Given the description of an element on the screen output the (x, y) to click on. 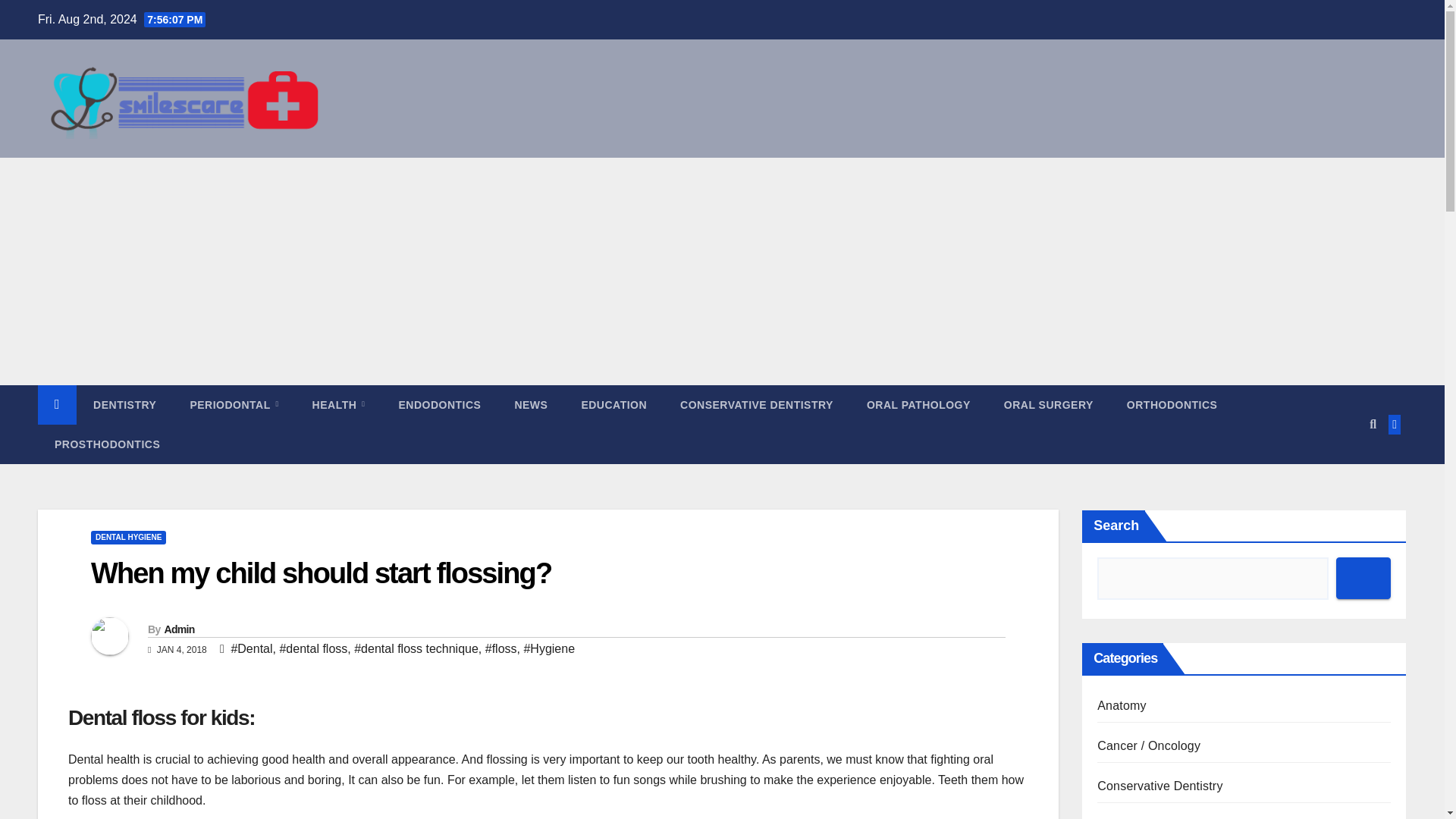
DENTAL HYGIENE (127, 537)
NEWS (530, 404)
PERIODONTAL (234, 404)
Education (613, 404)
HEALTH (338, 404)
Dentistry (125, 404)
Orthodontics (1171, 404)
Admin (178, 629)
Periodontal (234, 404)
ORTHODONTICS (1171, 404)
ORAL SURGERY (1048, 404)
When my child should start flossing? (320, 572)
EDUCATION (613, 404)
PROSTHODONTICS (106, 444)
Endodontics (439, 404)
